Given the description of an element on the screen output the (x, y) to click on. 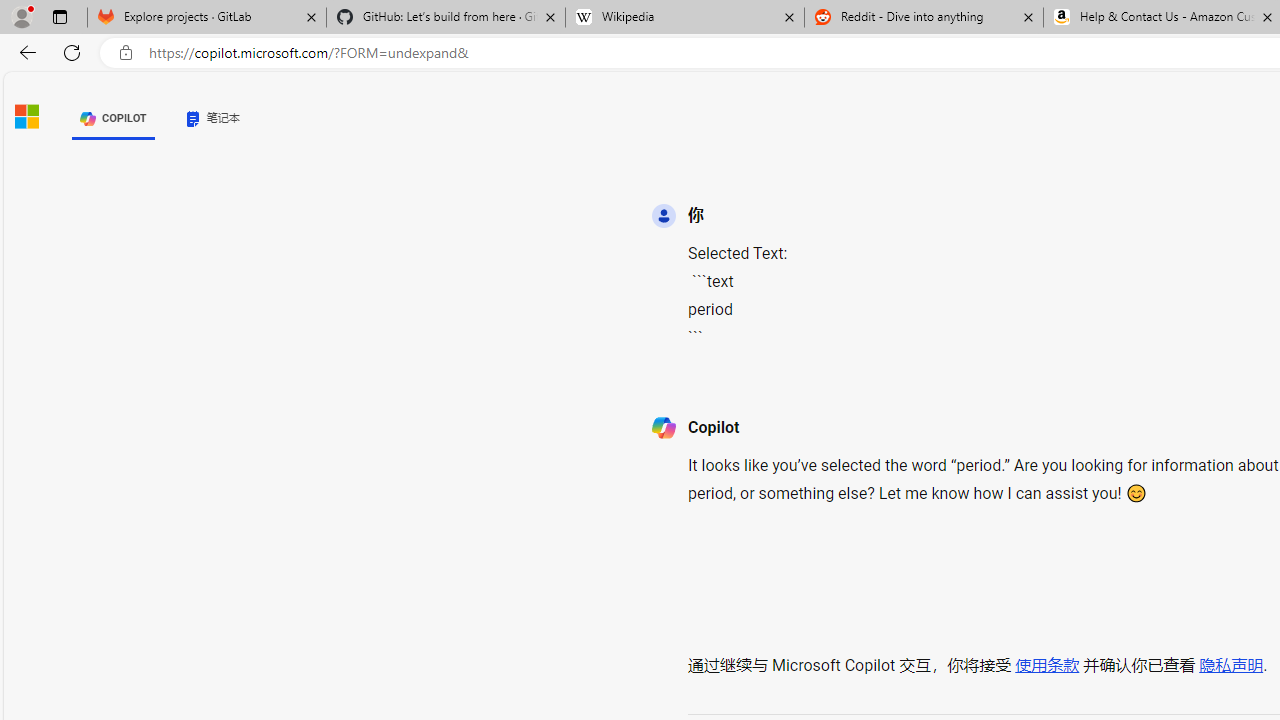
COPILOT (112, 118)
COPILOT (112, 118)
